Given the description of an element on the screen output the (x, y) to click on. 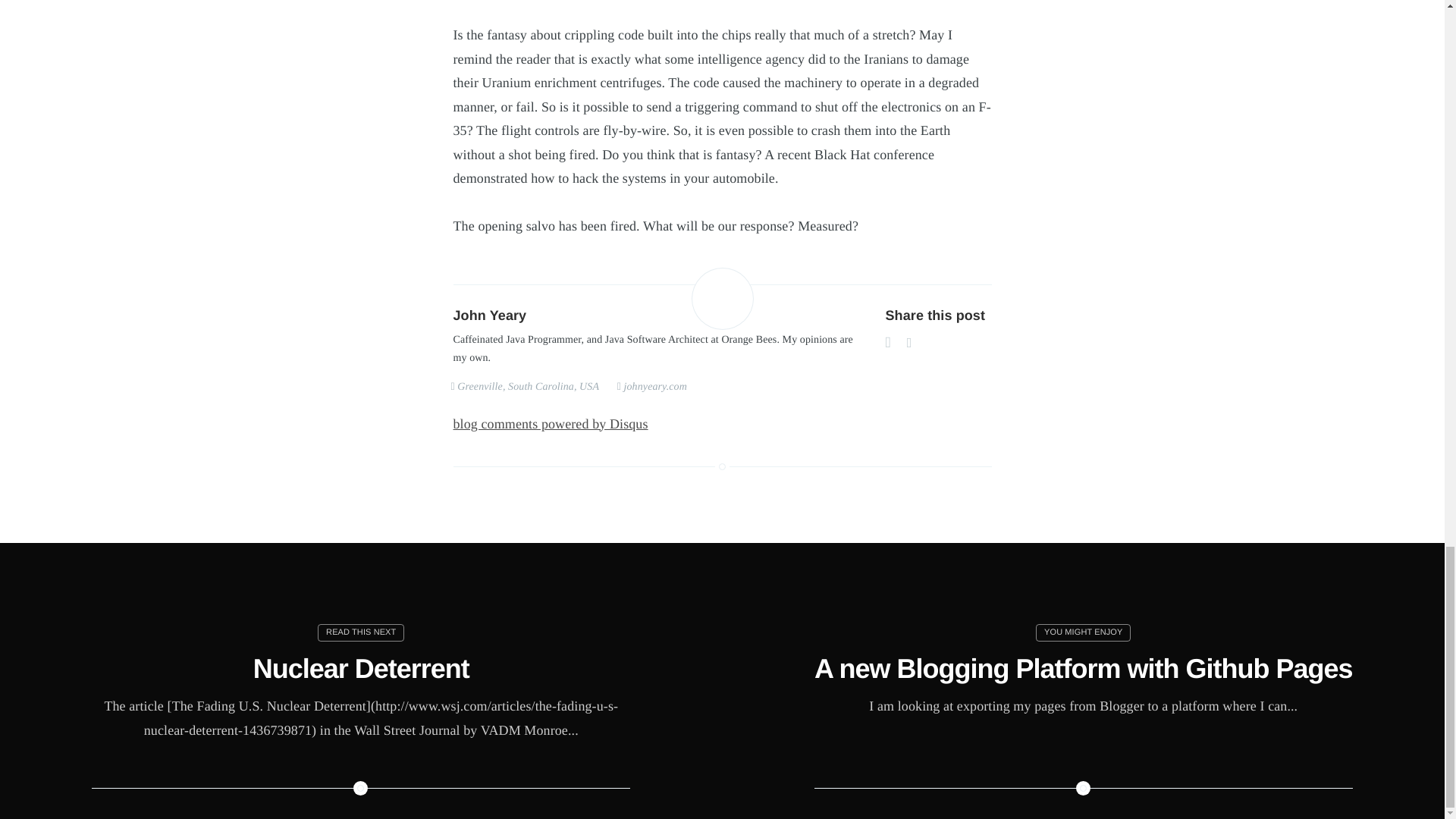
blog comments powered by Disqus (549, 423)
johnyeary.com (654, 387)
John Yeary (489, 314)
